Given the description of an element on the screen output the (x, y) to click on. 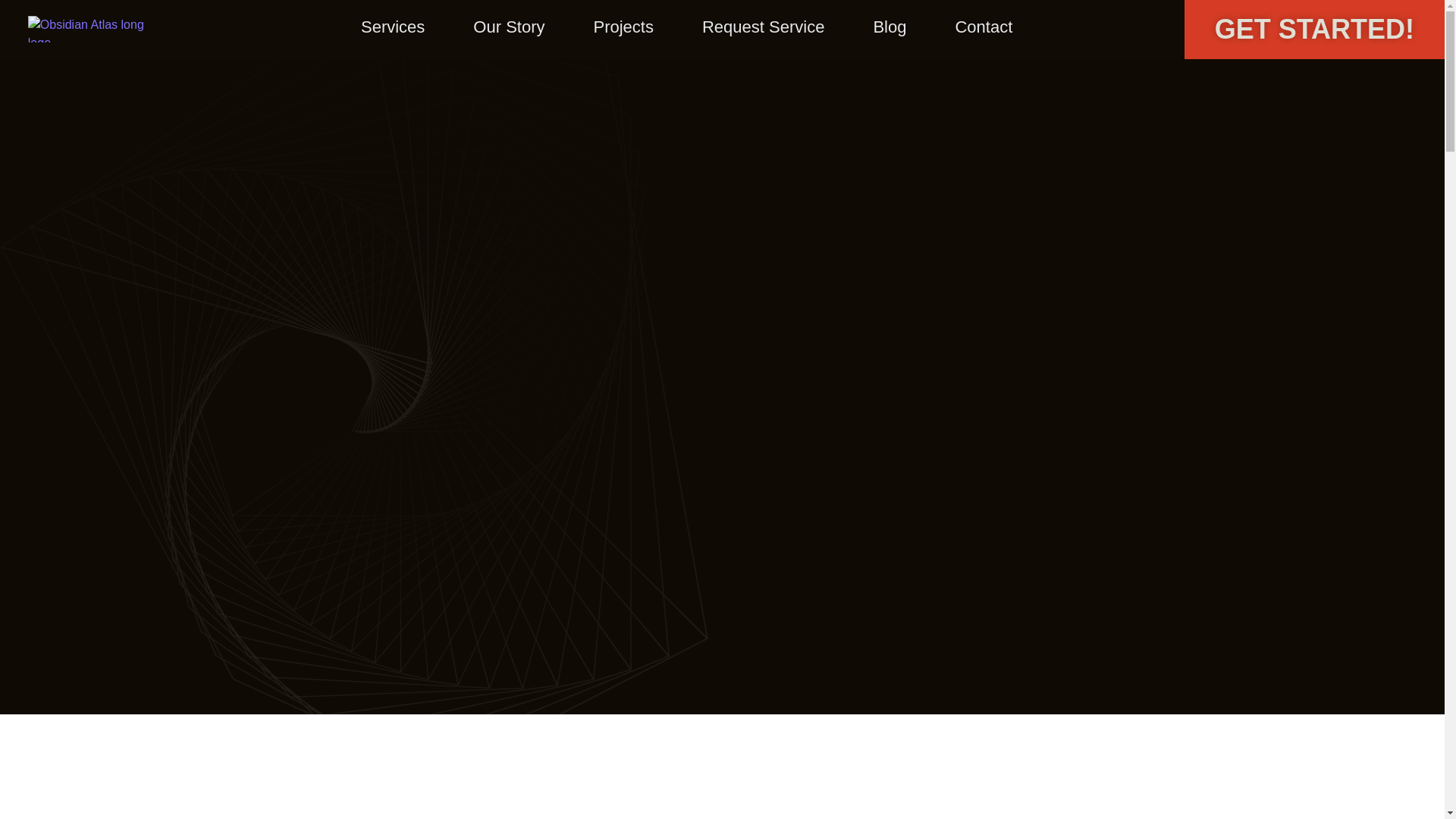
Contact (983, 27)
Services (392, 27)
Our Story (508, 27)
Request Service (763, 27)
Projects (623, 27)
Blog (889, 27)
